Given the description of an element on the screen output the (x, y) to click on. 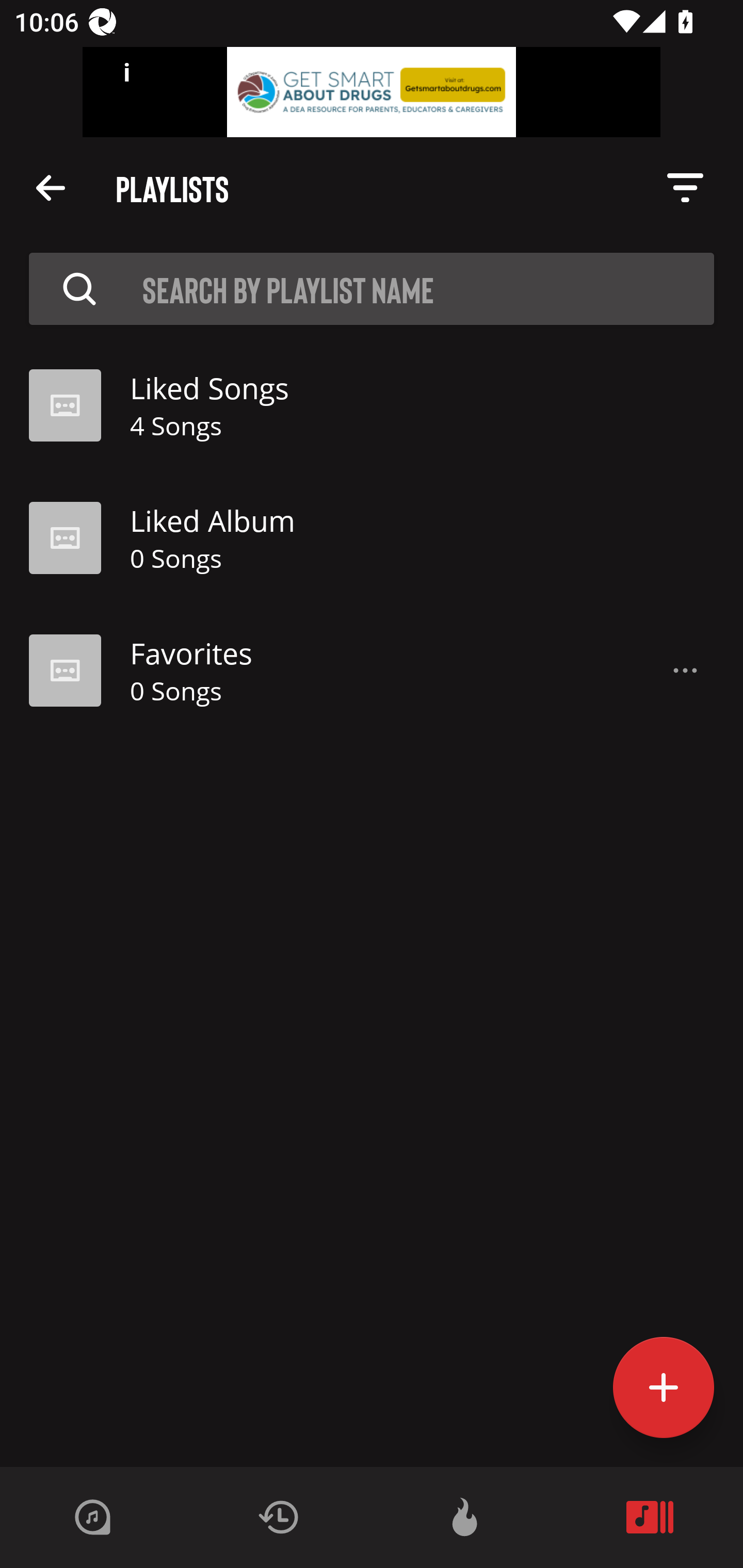
Description (50, 187)
Description (684, 188)
Search by playlist name (428, 288)
Description (79, 288)
Description Liked Songs 4 Songs (371, 404)
Description Liked Album 0 Songs (371, 538)
Description Favorites 0 Songs Description (371, 670)
Description (685, 670)
